Given the description of an element on the screen output the (x, y) to click on. 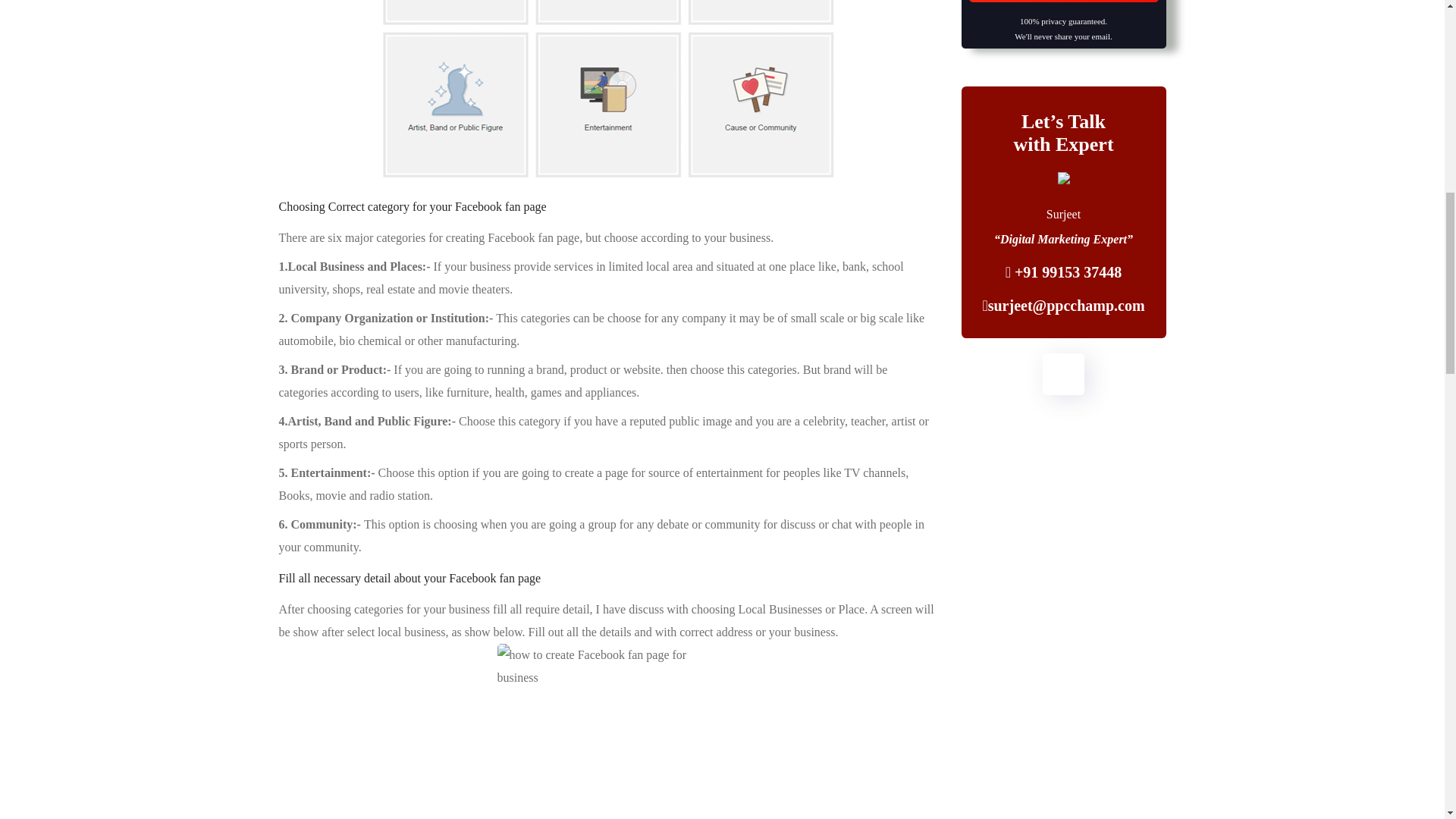
Submit Request (1063, 1)
Submit Request (1063, 1)
